Given the description of an element on the screen output the (x, y) to click on. 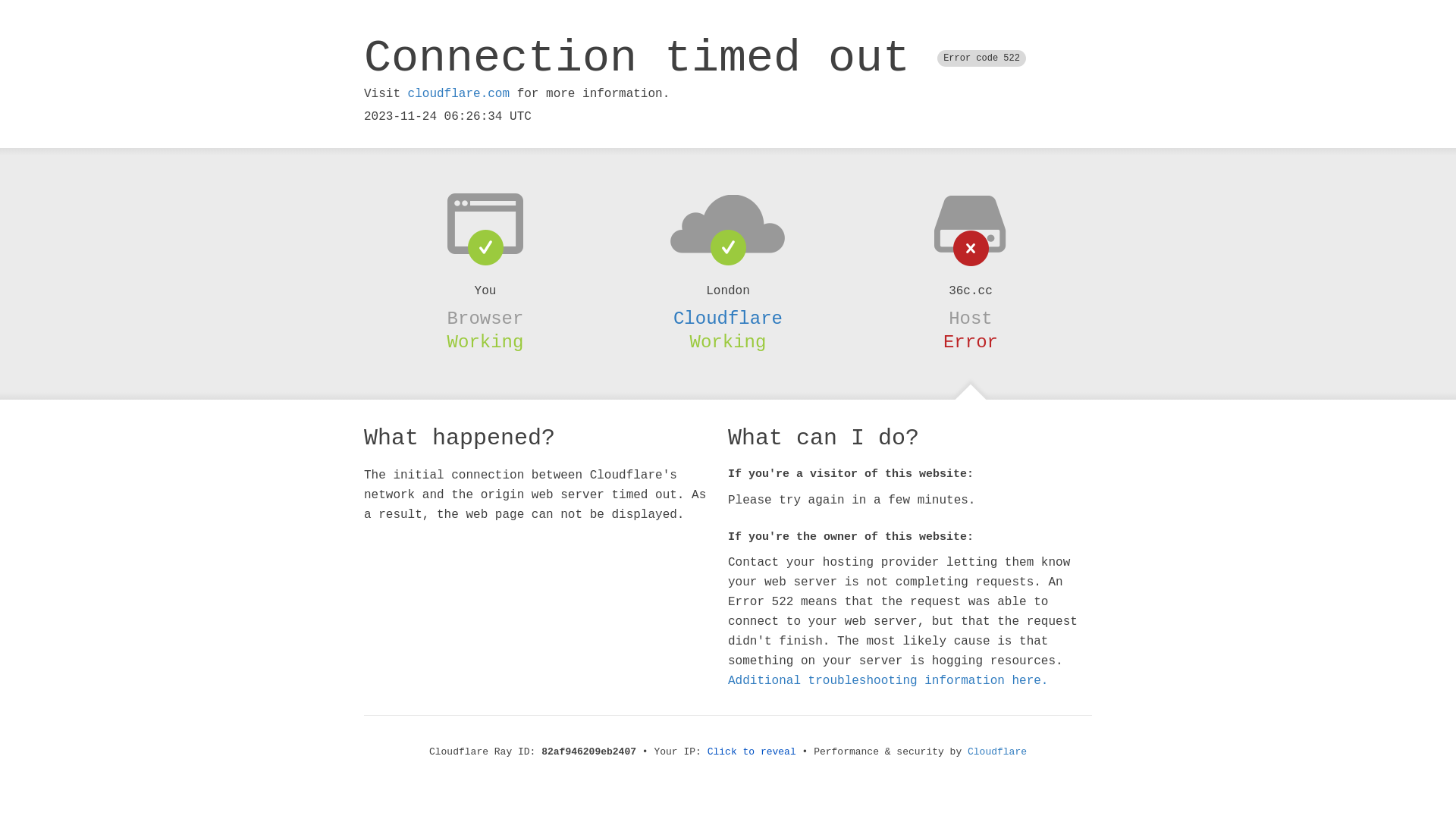
Cloudflare Element type: text (727, 318)
cloudflare.com Element type: text (458, 93)
Cloudflare Element type: text (996, 751)
Additional troubleshooting information here. Element type: text (888, 680)
Click to reveal Element type: text (751, 751)
